Given the description of an element on the screen output the (x, y) to click on. 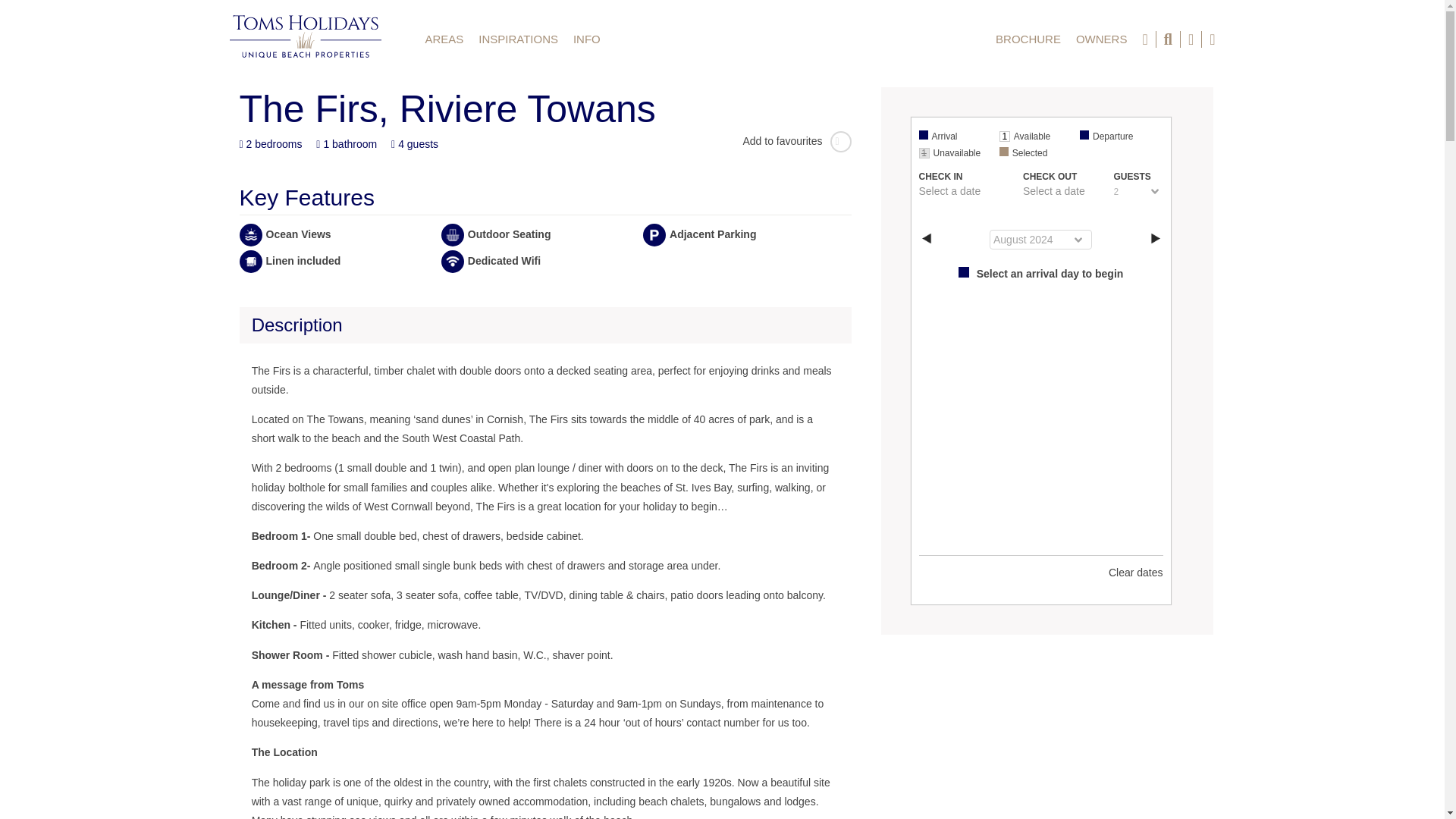
MORE FILTERS (1010, 28)
INFO (587, 38)
Add to favourites (796, 141)
Property Search (1168, 39)
Search (1138, 28)
INSPIRATIONS (517, 38)
Guest login (1191, 39)
Favourites (1145, 39)
Search (1138, 28)
BROCHURE (1028, 38)
